Given the description of an element on the screen output the (x, y) to click on. 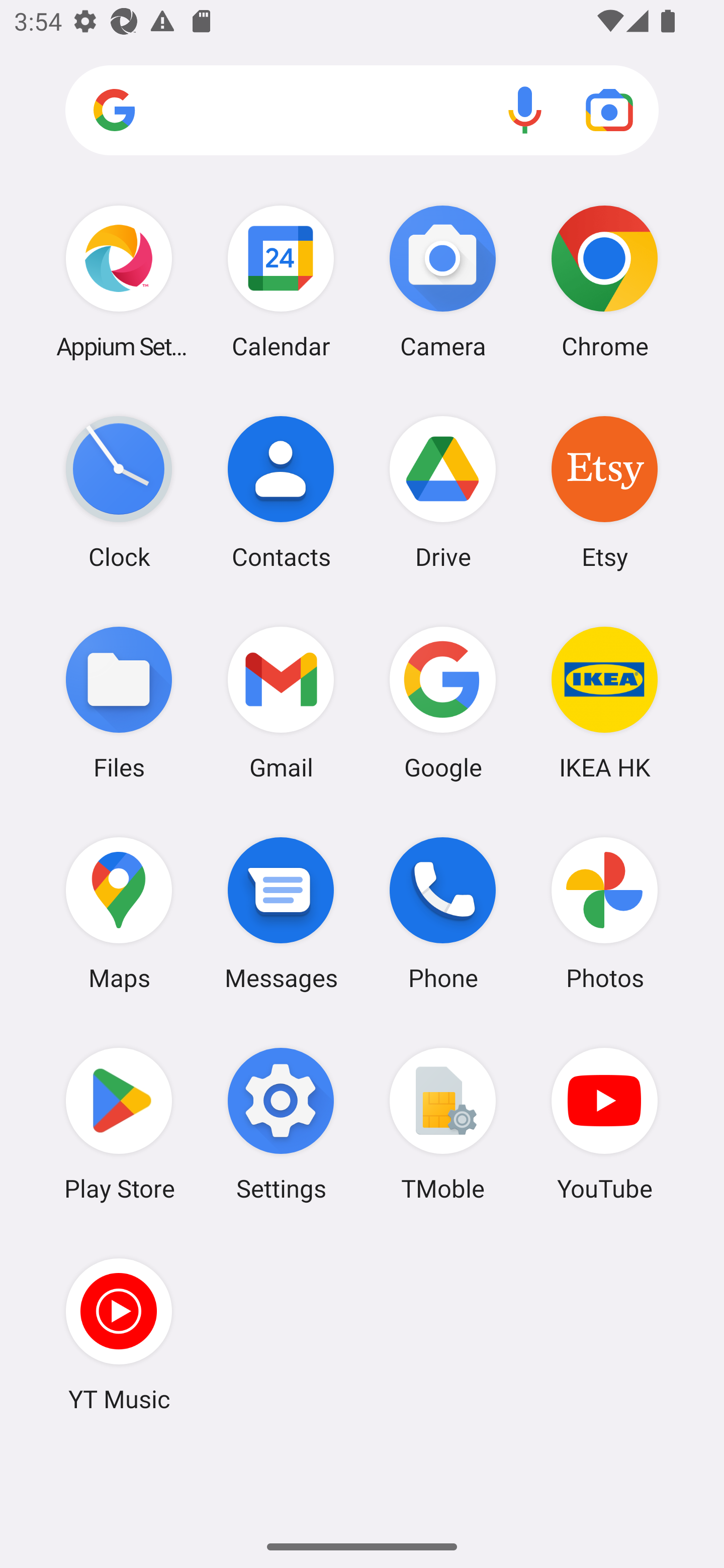
Search apps, web and more (361, 110)
Voice search (524, 109)
Google Lens (608, 109)
Appium Settings (118, 281)
Calendar (280, 281)
Camera (443, 281)
Chrome (604, 281)
Clock (118, 492)
Contacts (280, 492)
Drive (443, 492)
Etsy (604, 492)
Files (118, 702)
Gmail (280, 702)
Google (443, 702)
IKEA HK (604, 702)
Maps (118, 913)
Messages (280, 913)
Phone (443, 913)
Photos (604, 913)
Play Store (118, 1124)
Settings (280, 1124)
TMoble (443, 1124)
YouTube (604, 1124)
YT Music (118, 1334)
